Given the description of an element on the screen output the (x, y) to click on. 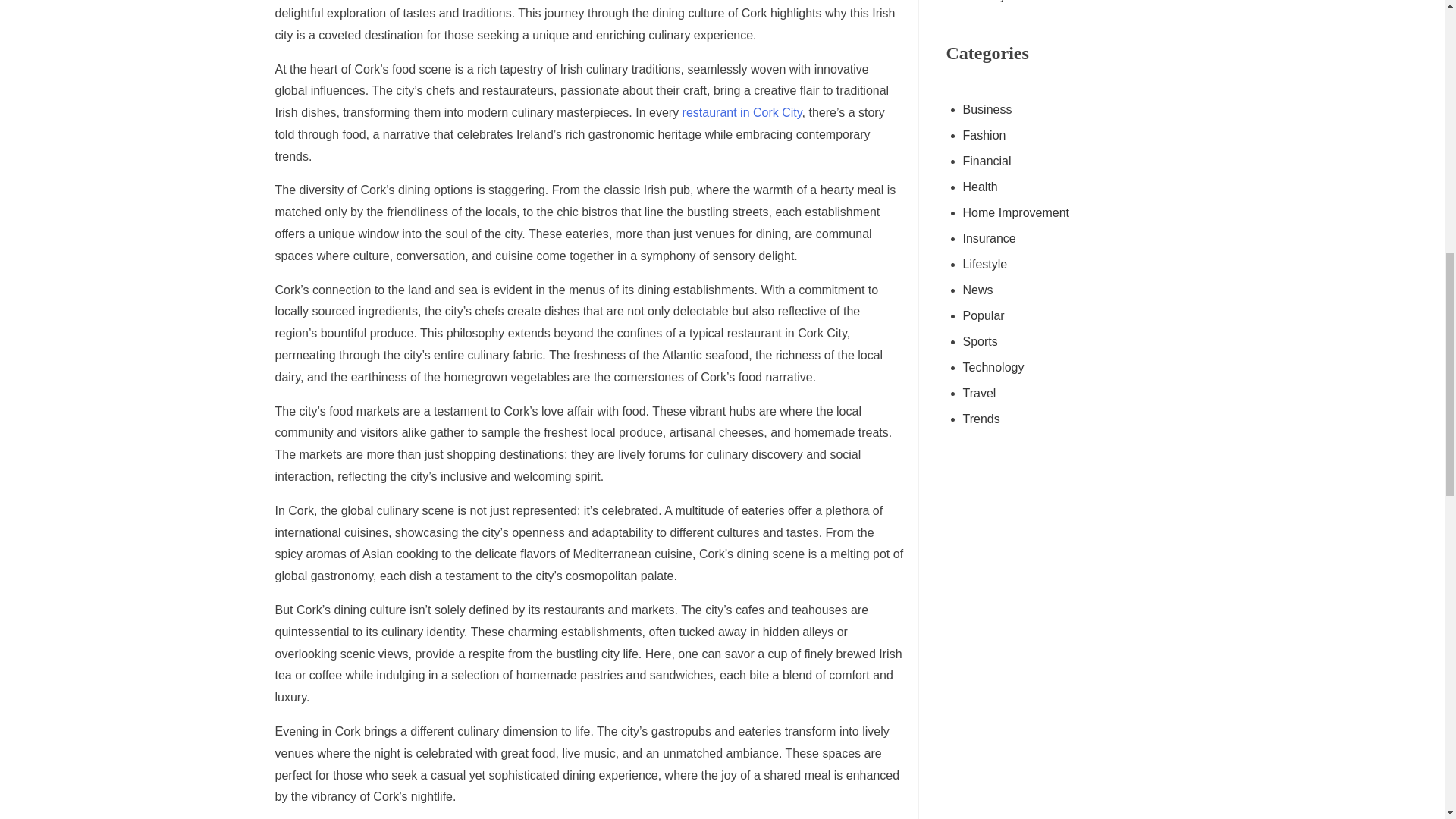
restaurant in Cork City (742, 112)
